Given the description of an element on the screen output the (x, y) to click on. 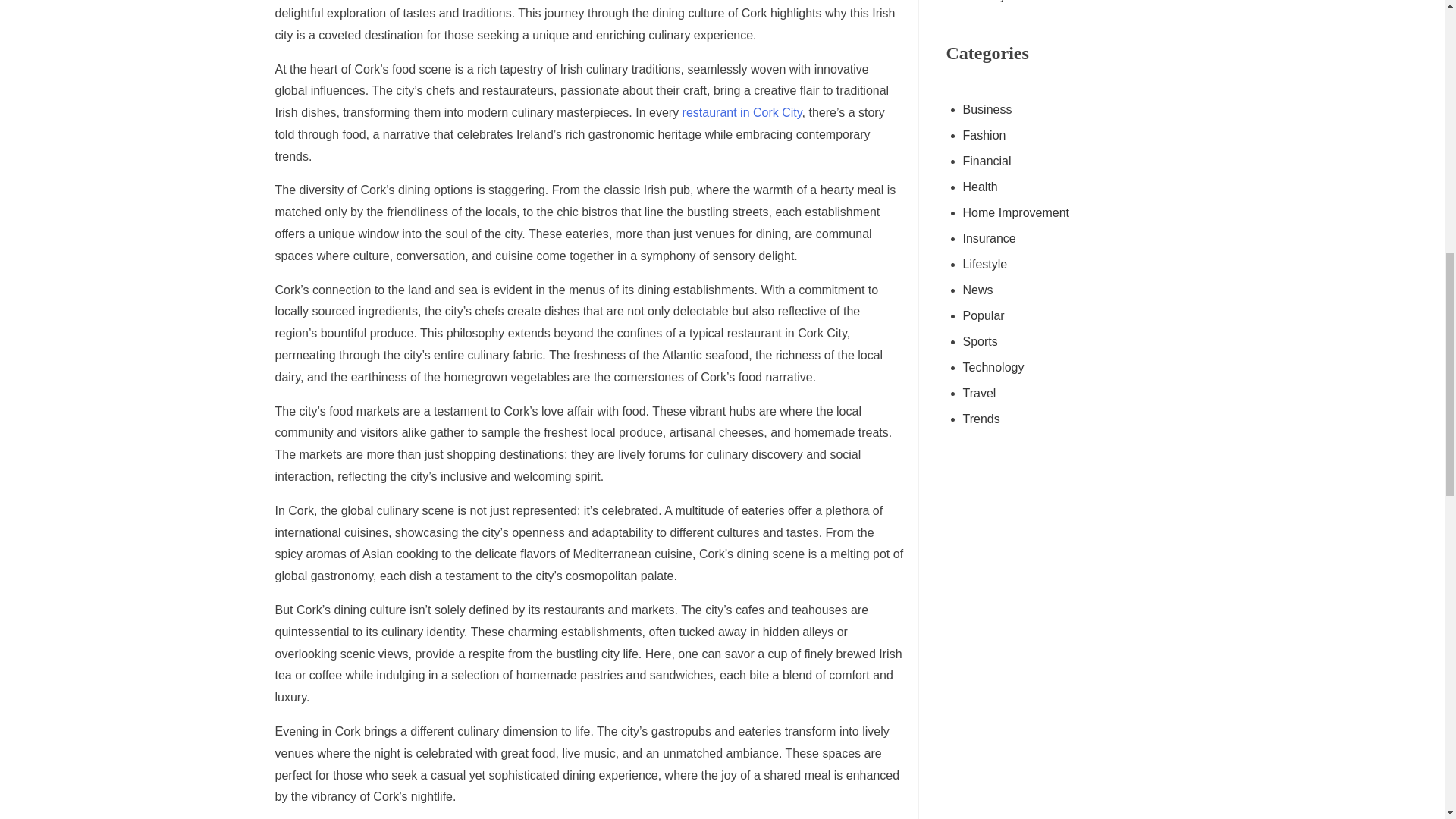
restaurant in Cork City (742, 112)
